Given the description of an element on the screen output the (x, y) to click on. 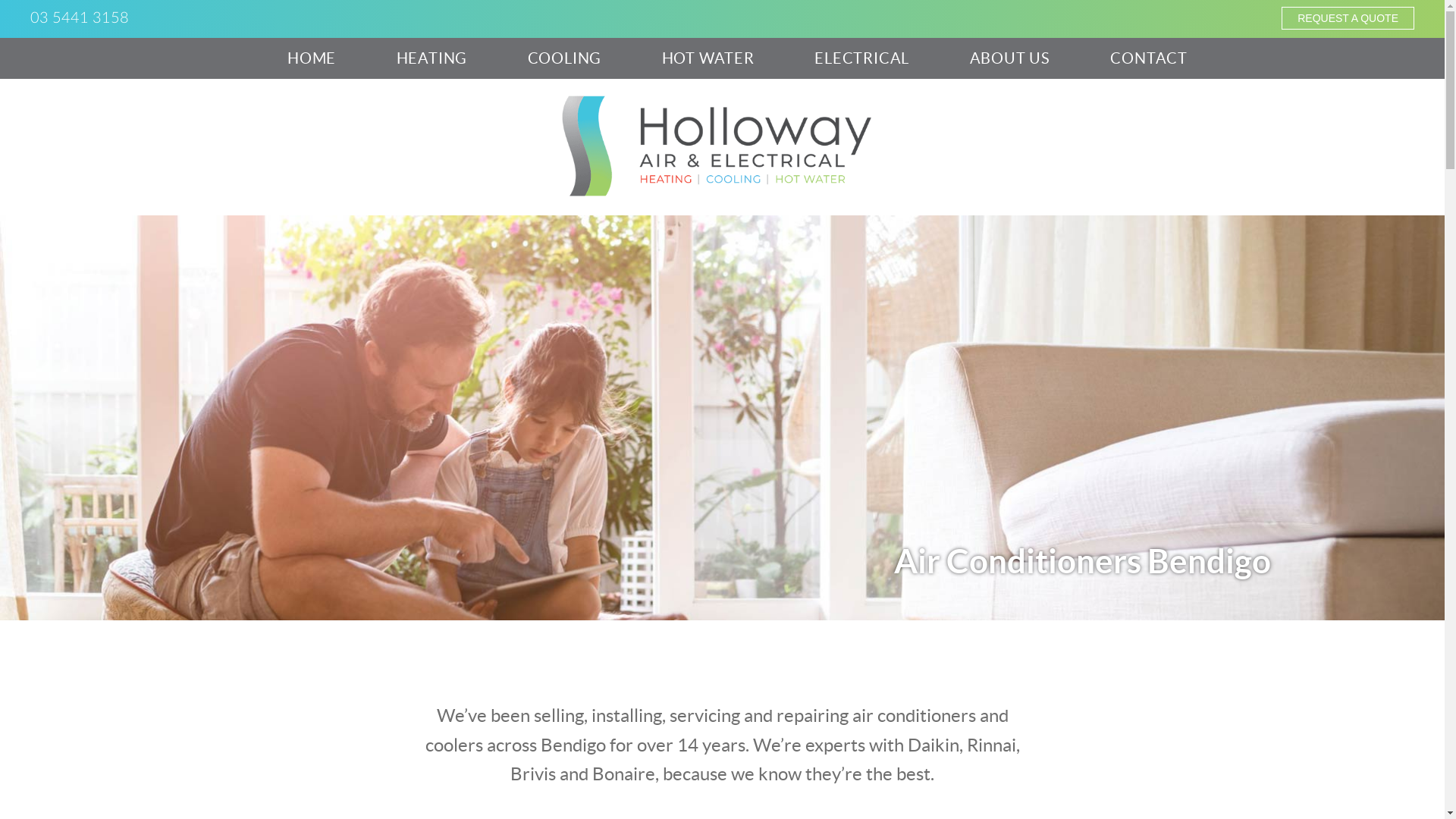
HOT WATER Element type: text (708, 58)
ABOUT US Element type: text (1009, 58)
REQUEST A QUOTE Element type: text (1347, 17)
ELECTRICAL Element type: text (861, 58)
CONTACT Element type: text (1148, 58)
HEATING Element type: text (431, 58)
03 5441 3158 Element type: text (79, 17)
COOLING Element type: text (564, 58)
HOME Element type: text (311, 58)
